Given the description of an element on the screen output the (x, y) to click on. 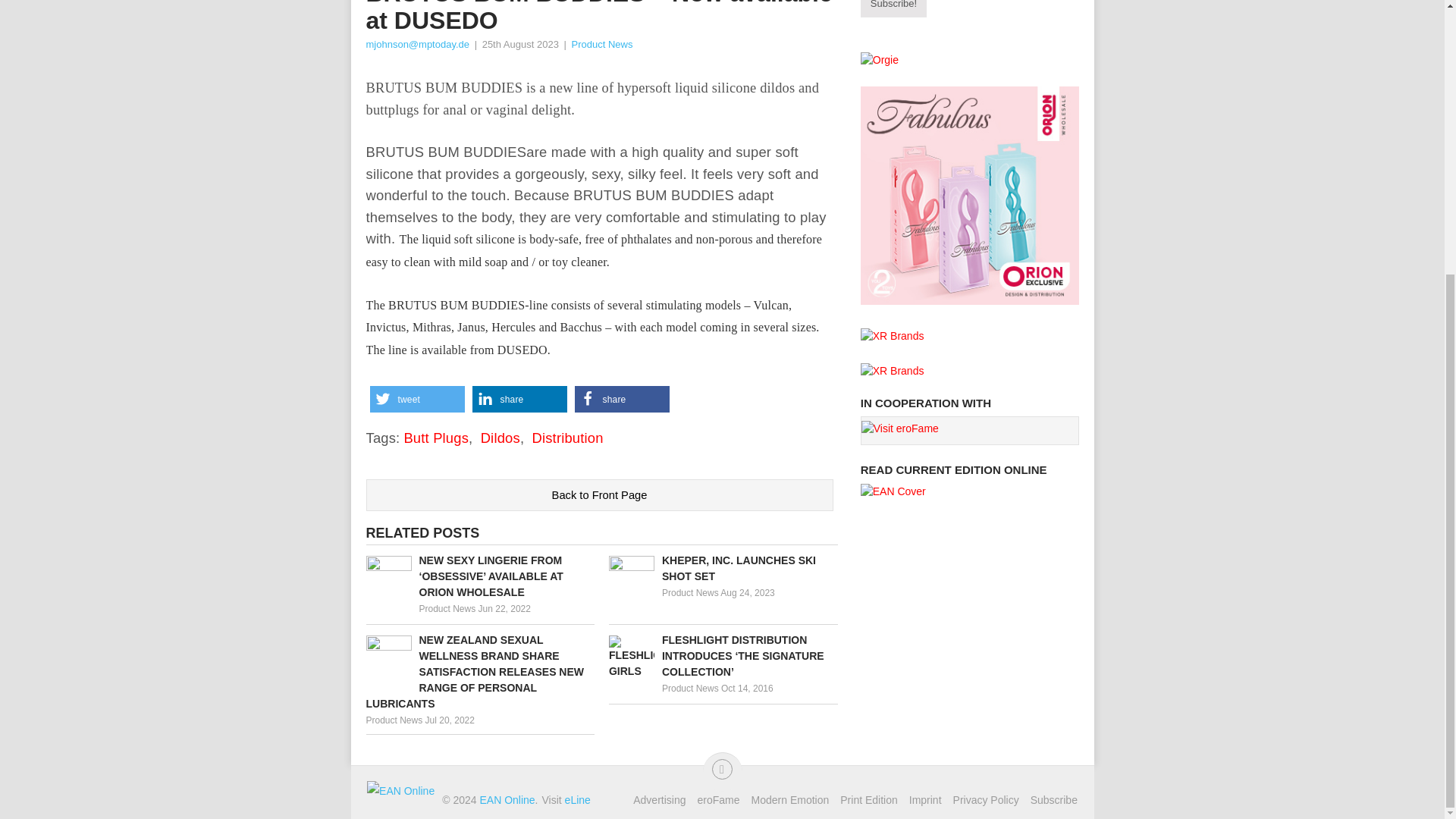
Share on LinkedIn (518, 398)
Subscribe! (893, 9)
tweet  (416, 398)
Kheper, Inc. launches Ski Shot Set (723, 568)
Product News (600, 43)
Product News (393, 719)
Product News (690, 593)
Share on Facebook (622, 398)
share  (518, 398)
Butt Plugs (435, 437)
share  (622, 398)
Distribution (566, 437)
KHEPER, INC. LAUNCHES SKI SHOT SET (723, 568)
Product News (690, 688)
